Given the description of an element on the screen output the (x, y) to click on. 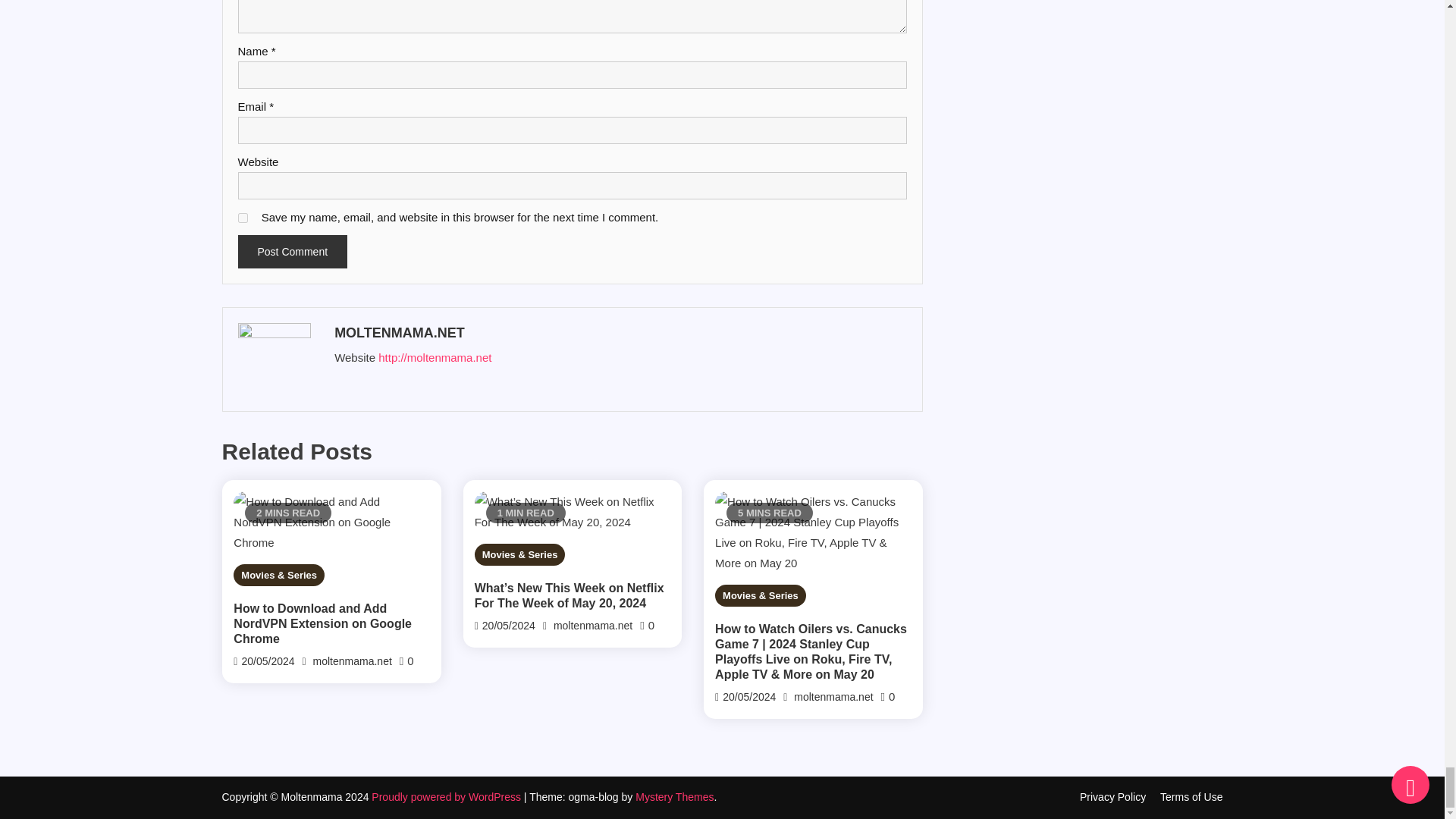
How to Download and Add NordVPN Extension on Google Chrome (330, 624)
Post Comment (292, 251)
moltenmama.net (352, 661)
yes (242, 217)
Post Comment (292, 251)
Posts by moltenmama.net (618, 332)
MOLTENMAMA.NET (618, 332)
